Given the description of an element on the screen output the (x, y) to click on. 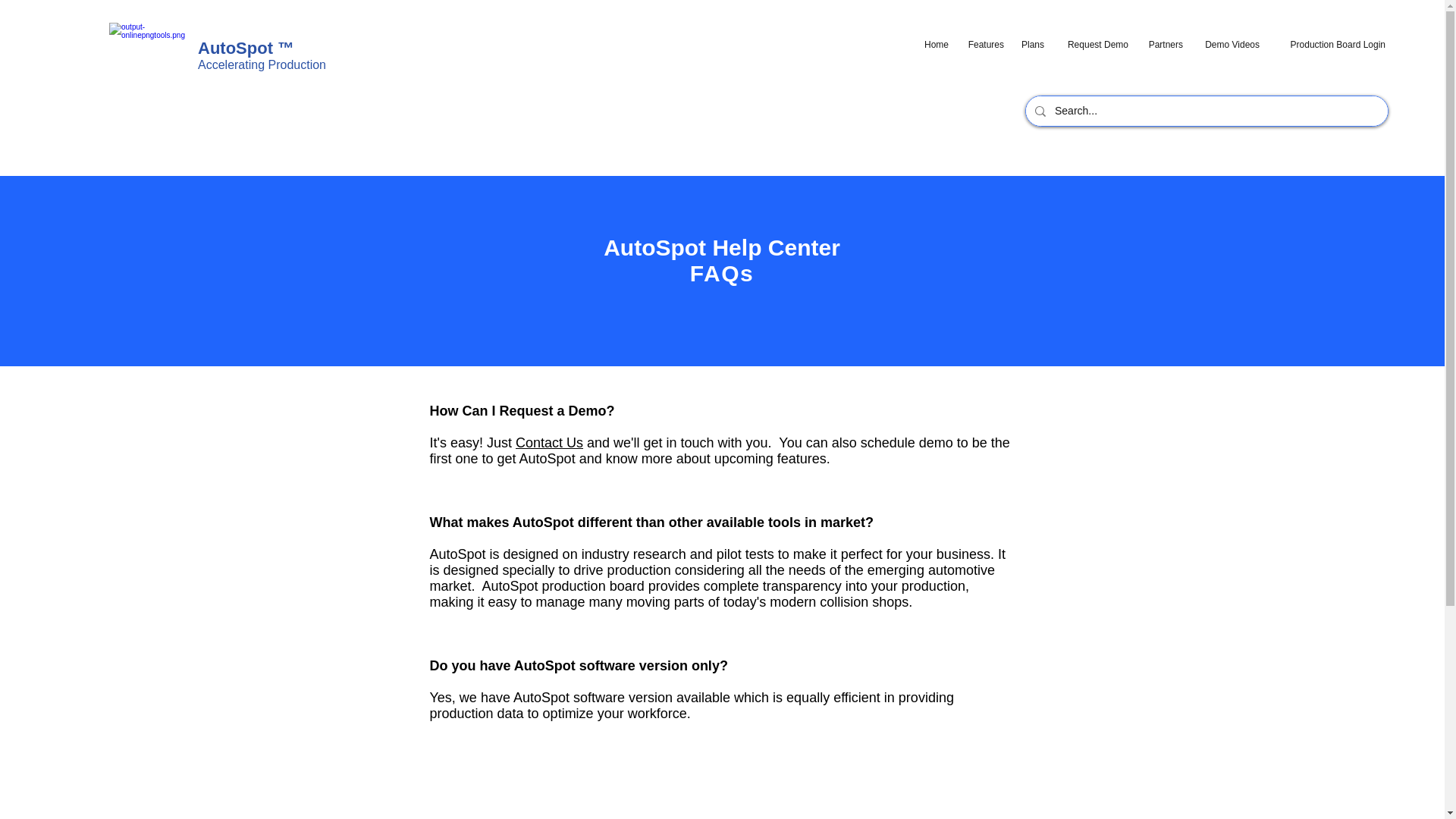
Home (934, 44)
Partners (1163, 44)
Request Demo (1093, 44)
Demo Videos (1228, 44)
Features (983, 44)
Contact Us (549, 442)
Production Board Login (1329, 44)
Plans (1031, 44)
